Given the description of an element on the screen output the (x, y) to click on. 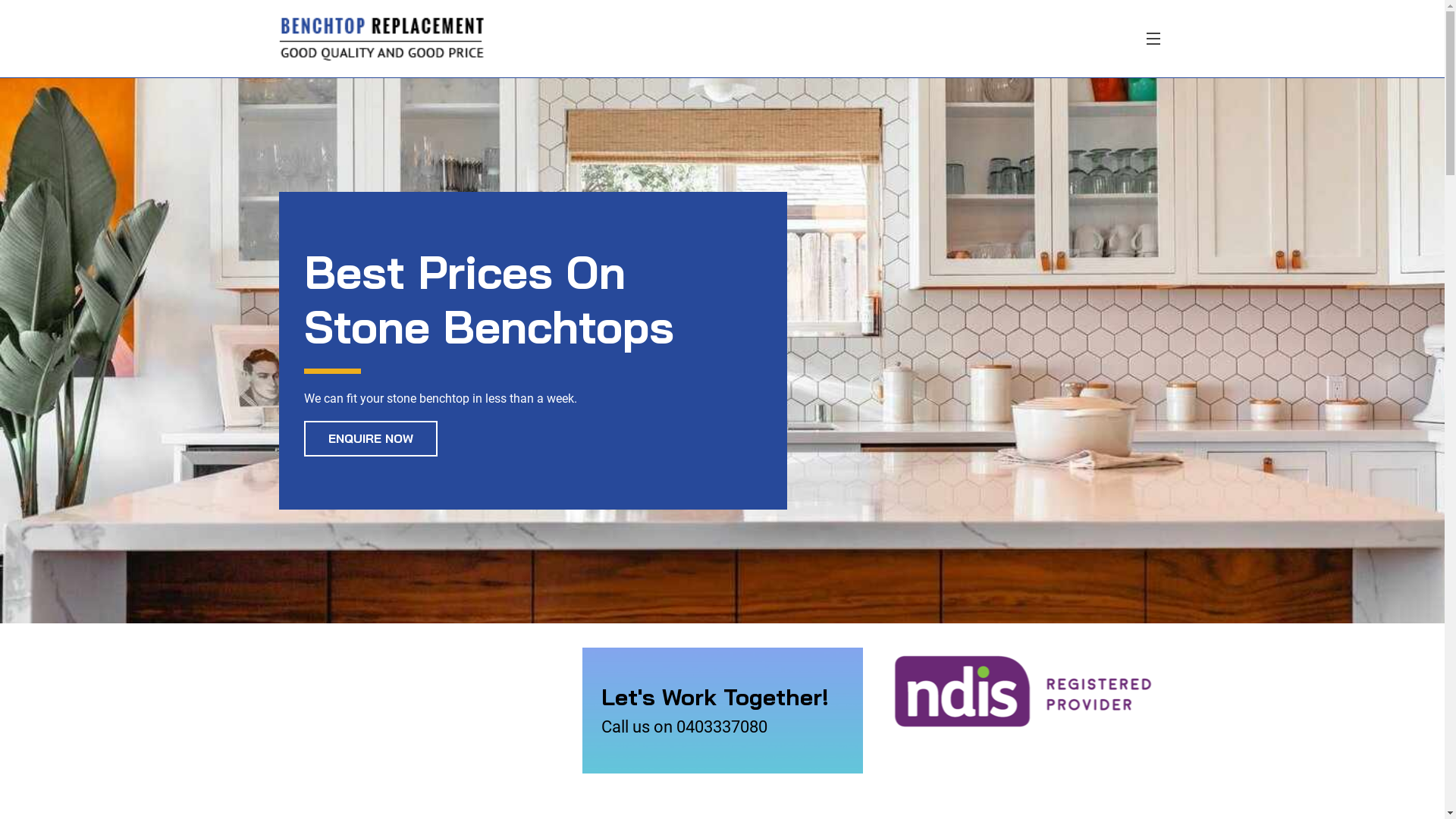
ndis Registered Element type: hover (1025, 691)
ENQUIRE NOW Element type: text (370, 438)
